Given the description of an element on the screen output the (x, y) to click on. 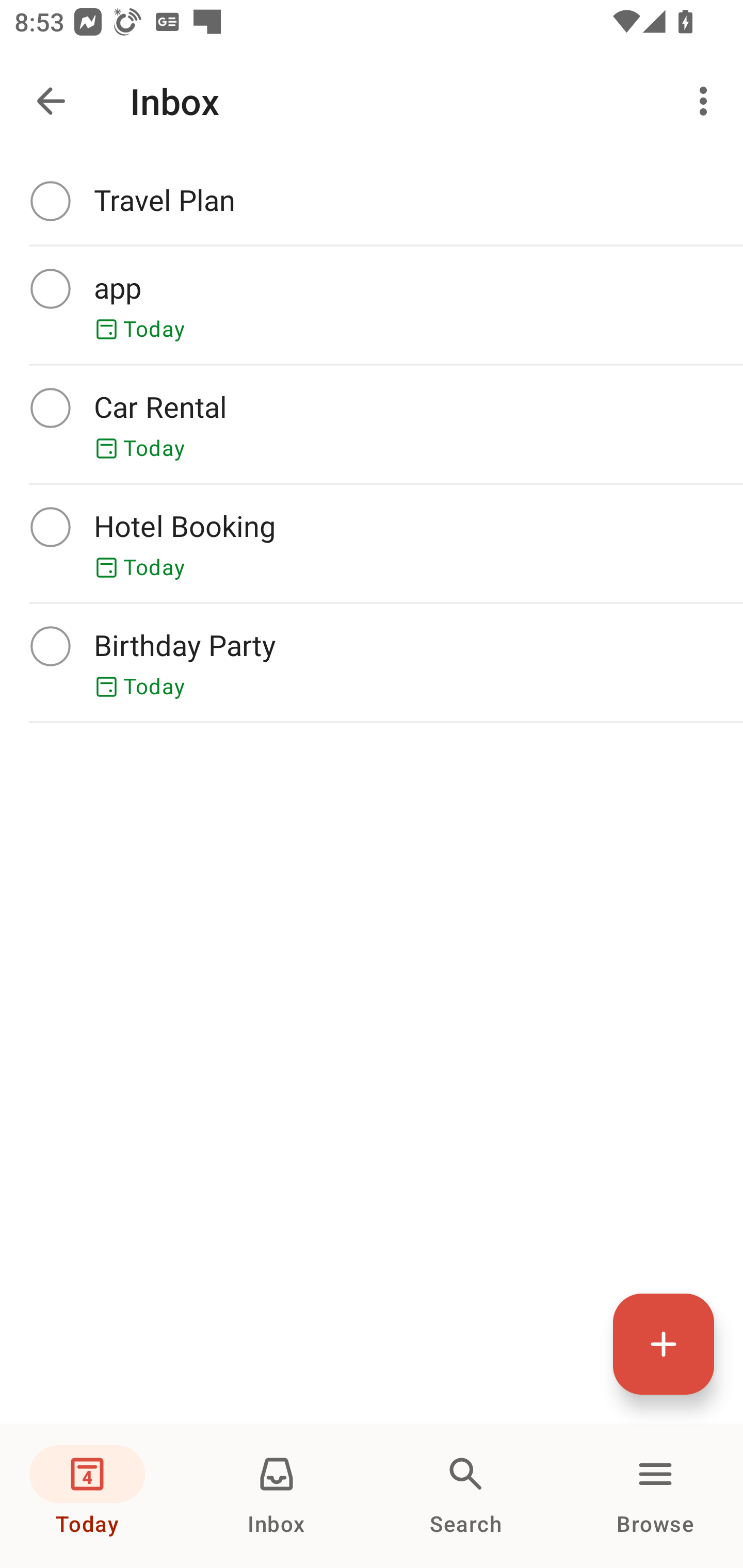
Navigate up Inbox More options (371, 100)
Navigate up (50, 101)
More options (706, 101)
Complete Travel Plan (371, 201)
Complete (50, 200)
Complete app Today (371, 304)
Complete (50, 288)
Complete Car Rental Today (371, 423)
Complete (50, 407)
Complete Hotel Booking Today (371, 543)
Complete (50, 526)
Complete Birthday Party Today (371, 662)
Complete (50, 645)
Quick add (663, 1343)
Inbox (276, 1495)
Search (465, 1495)
Browse (655, 1495)
